Given the description of an element on the screen output the (x, y) to click on. 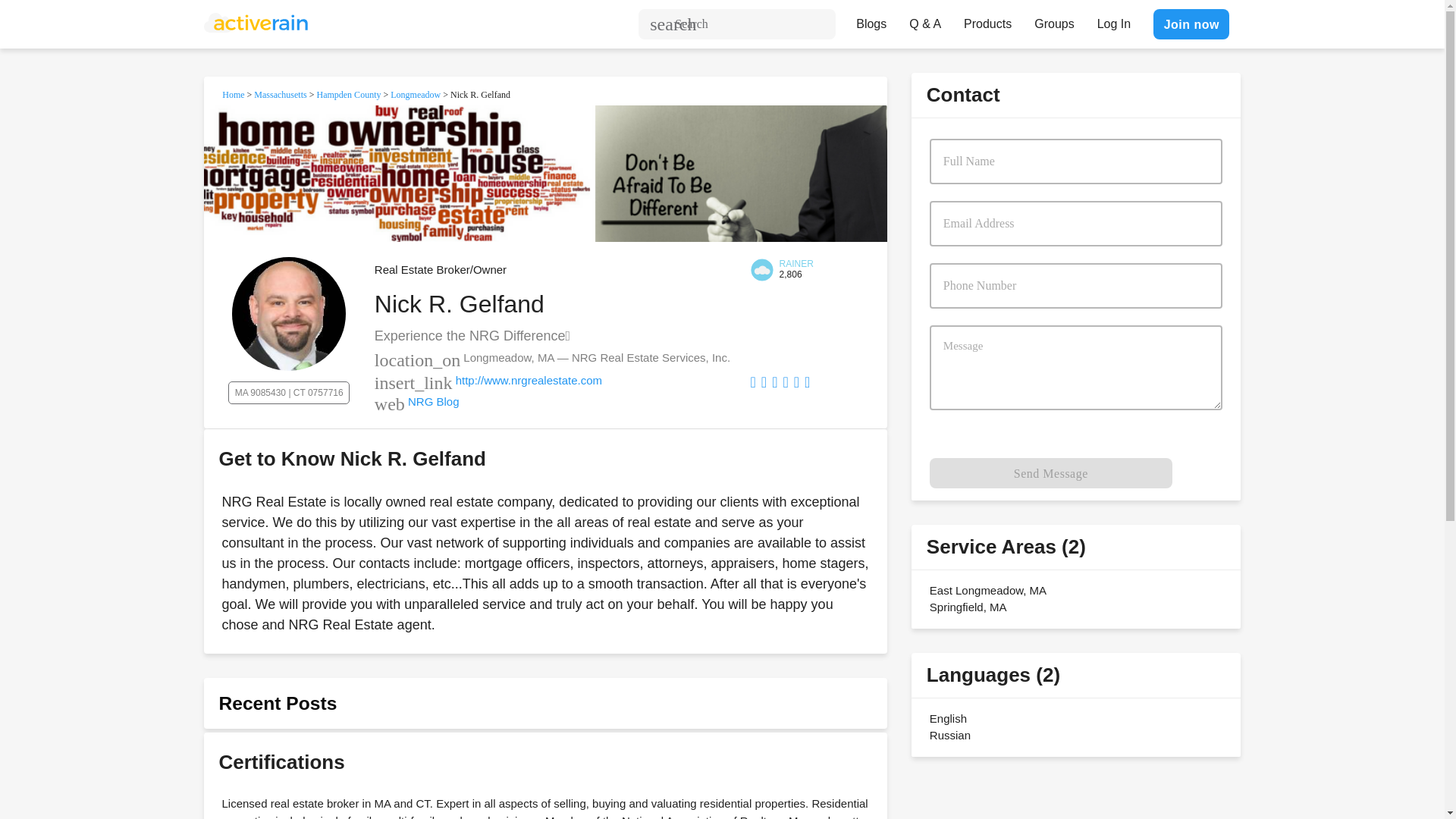
Groups (1053, 19)
Products (986, 19)
Send Message (1051, 472)
Home (233, 94)
Blogs (870, 19)
Send Message (1051, 472)
Hampden County (347, 94)
Log In (1113, 19)
Massachusetts (279, 94)
Longmeadow (415, 94)
